Given the description of an element on the screen output the (x, y) to click on. 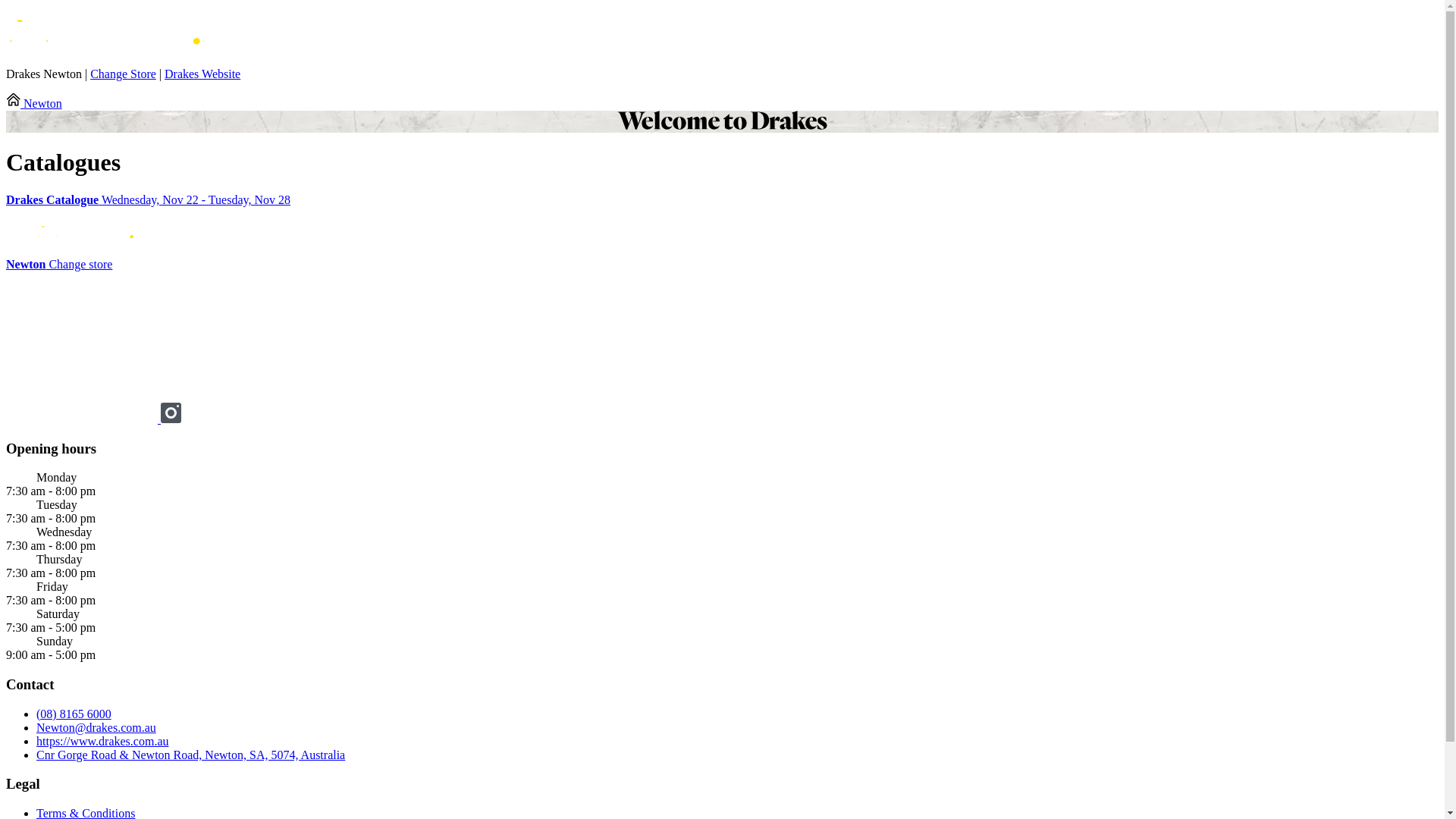
Facebook Element type: hover (83, 418)
Drakes Website Element type: text (202, 73)
Change Store Element type: text (123, 73)
(08) 8165 6000 Element type: text (73, 713)
Cnr Gorge Road & Newton Road, Newton, SA, 5074, Australia Element type: text (190, 754)
Drakes Catalogue Wednesday, Nov 22 - Tuesday, Nov 28 Element type: text (722, 199)
Newton Element type: text (34, 103)
https://www.drakes.com.au Element type: text (102, 740)
Newton@drakes.com.au Element type: text (96, 727)
Newton Change store Element type: text (59, 263)
Instagram drakessupermarkets Element type: hover (170, 418)
